Given the description of an element on the screen output the (x, y) to click on. 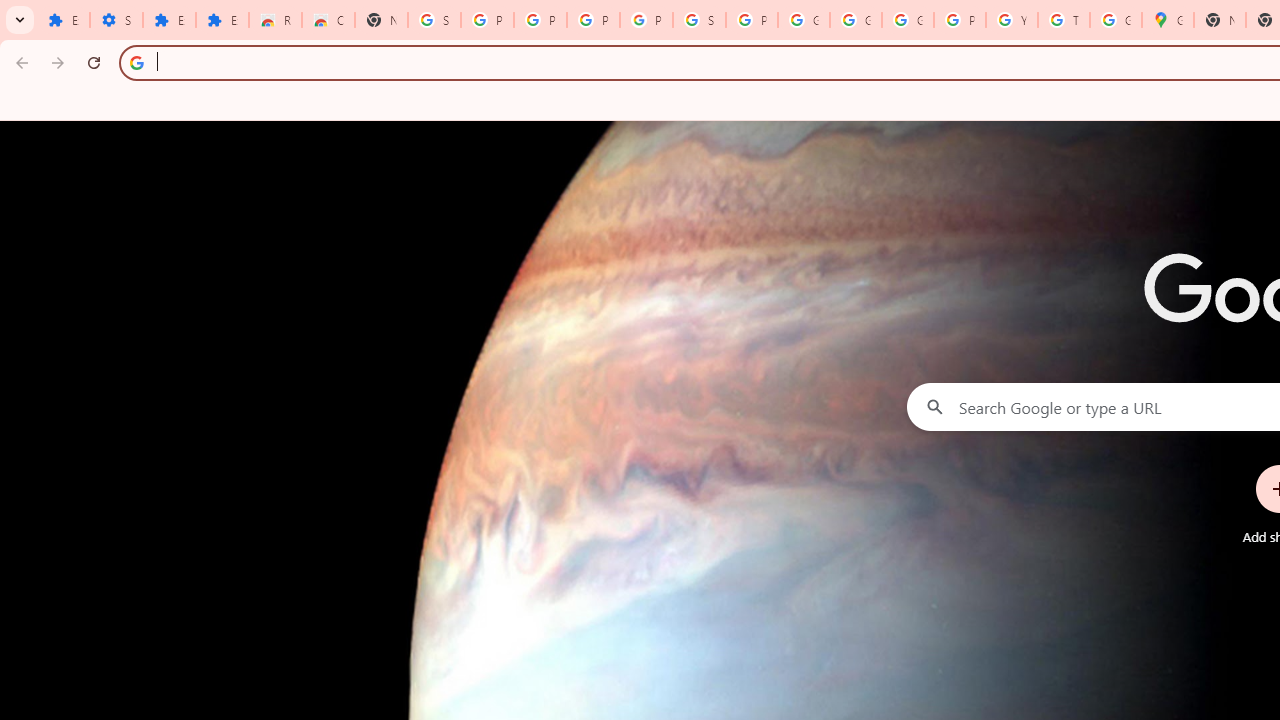
New Tab (1219, 20)
Google Account (803, 20)
Sign in - Google Accounts (434, 20)
Extensions (222, 20)
New Tab (381, 20)
